Given the description of an element on the screen output the (x, y) to click on. 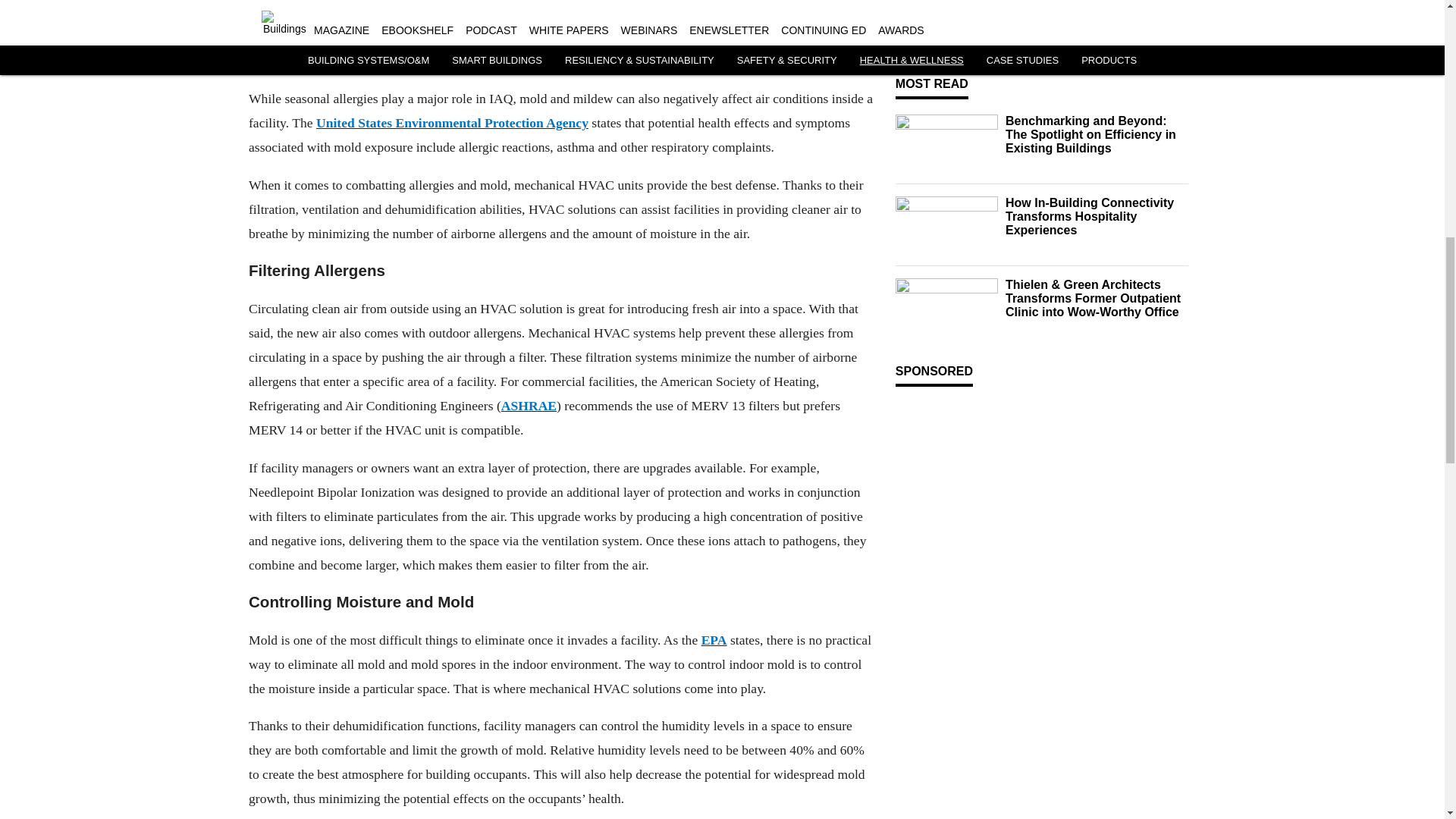
EPA (713, 639)
United States Environmental Protection Agency (451, 122)
Centers for Disease Control and Prevention (544, 10)
CDC (799, 37)
ASHRAE (528, 405)
